Given the description of an element on the screen output the (x, y) to click on. 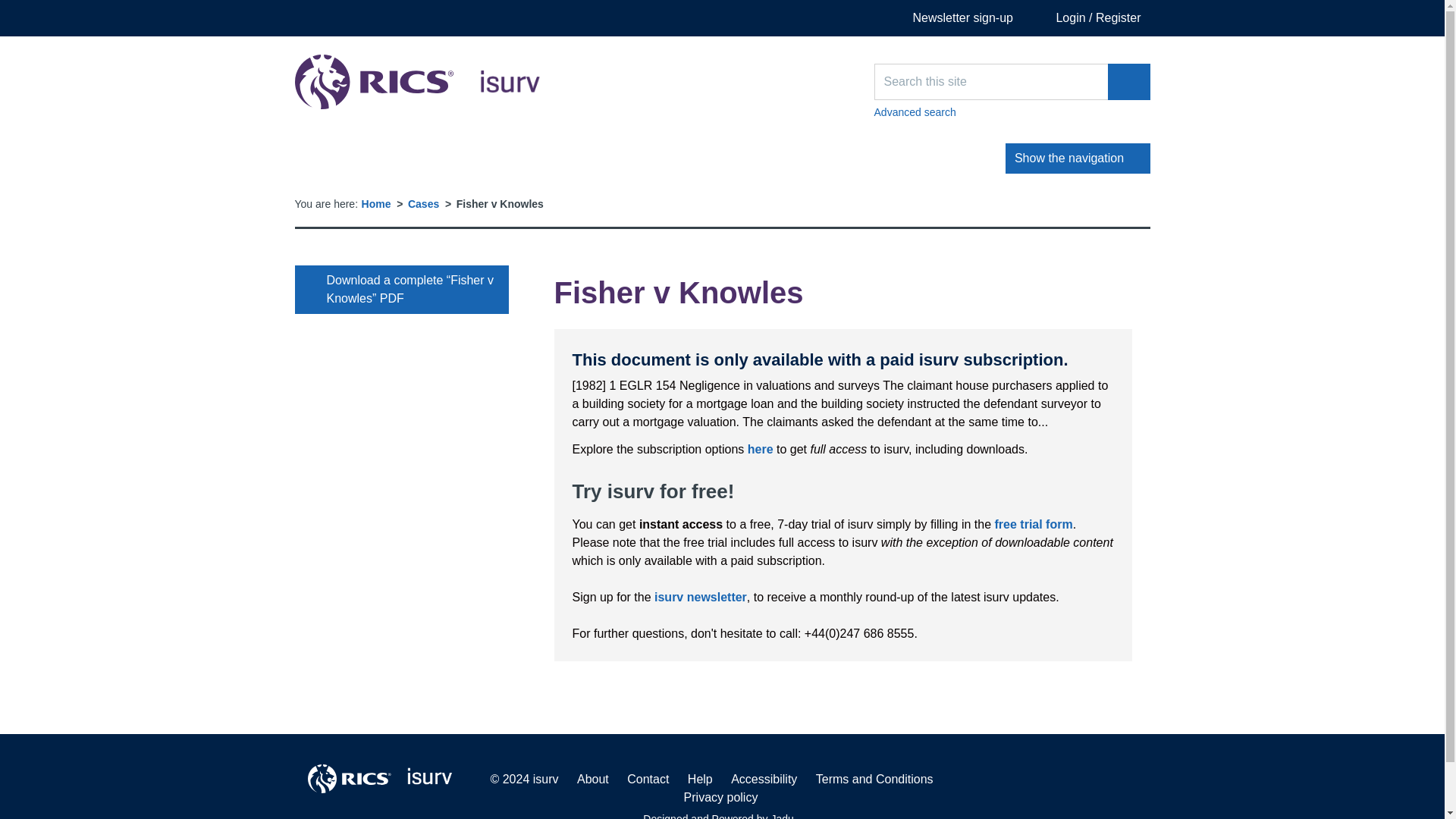
Cases (423, 203)
Channels (374, 158)
Search (417, 81)
Home (1128, 81)
isurv newsletter (376, 203)
here (699, 596)
Advanced search (760, 449)
Show the navigation (1012, 112)
RICS (1078, 158)
